Given the description of an element on the screen output the (x, y) to click on. 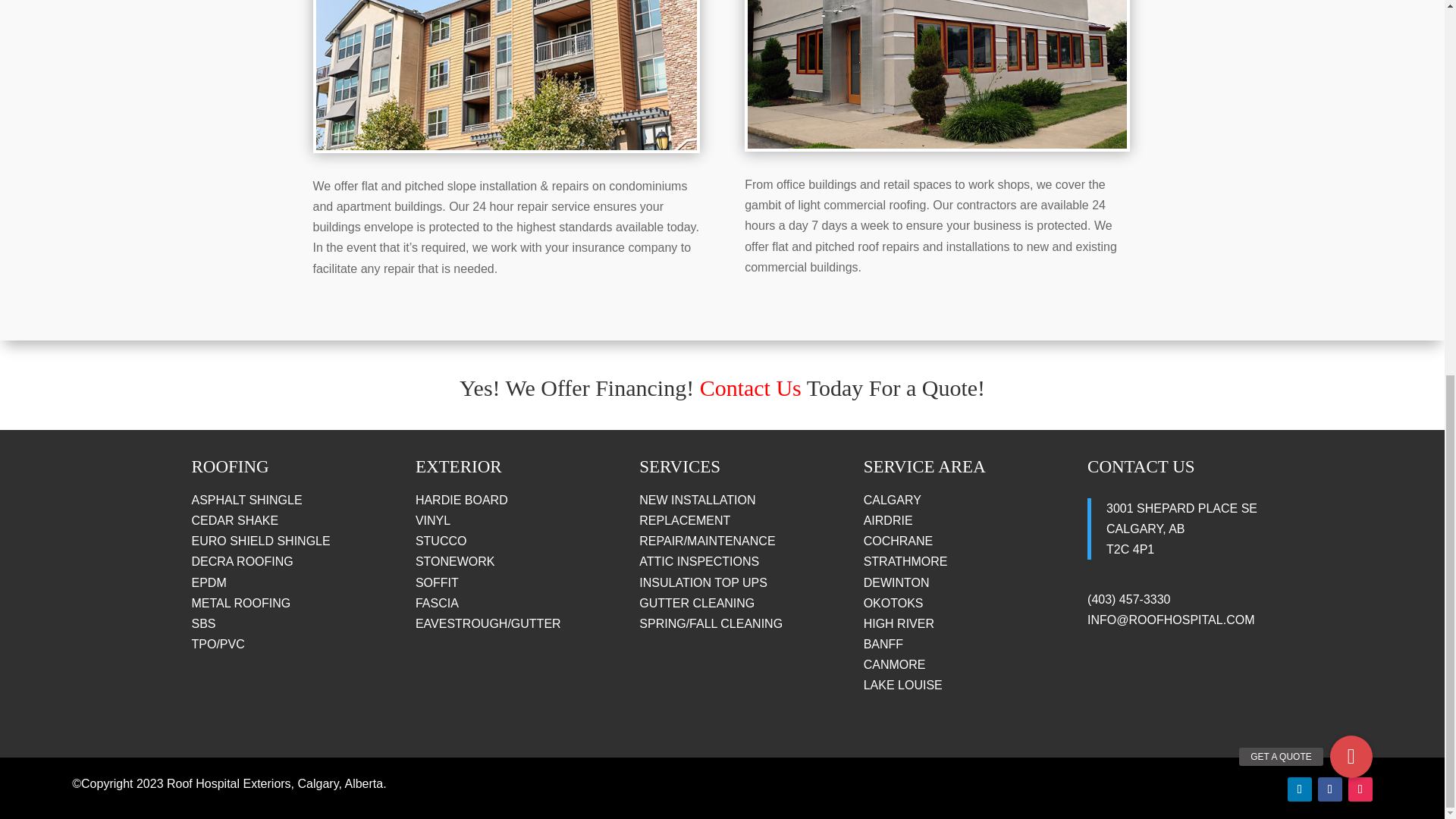
GET A QUOTE (1351, 66)
Follow on LinkedIn (1299, 789)
commercial-roofing-1 (937, 74)
Contact Us (751, 387)
Follow on Facebook (1329, 789)
Follow on Instagram (1360, 789)
